Given the description of an element on the screen output the (x, y) to click on. 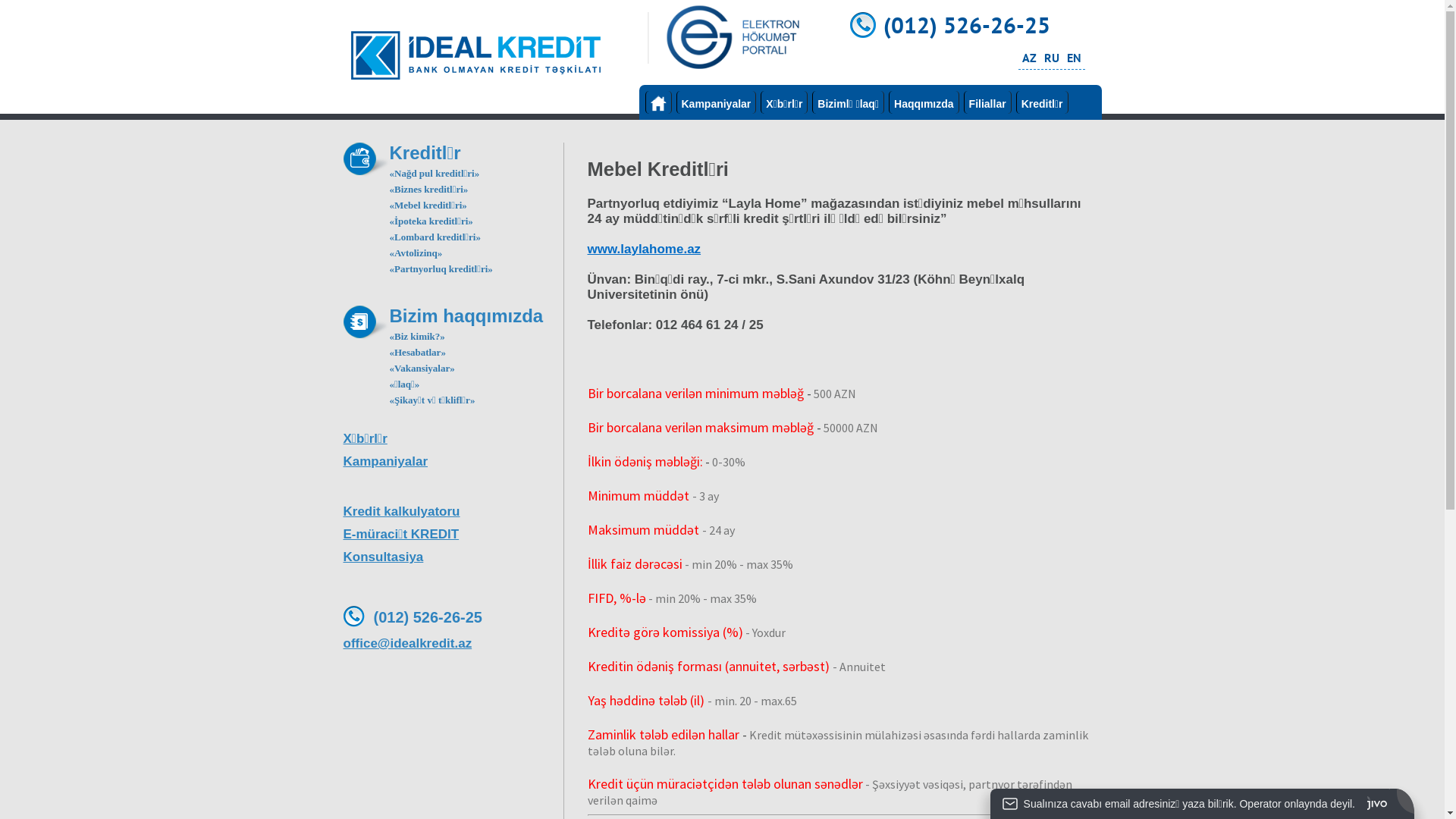
Kampaniyalar Element type: text (716, 102)
Filiallar Element type: text (987, 102)
Konsultasiya Element type: text (452, 556)
RU Element type: text (1050, 57)
Kredit kalkulyatoru Element type: text (452, 511)
www.laylahome.az Element type: text (643, 248)
AZ Element type: text (1029, 57)
office@idealkredit.az Element type: text (452, 643)
Kampaniyalar Element type: text (452, 461)
EN Element type: text (1073, 57)
